Given the description of an element on the screen output the (x, y) to click on. 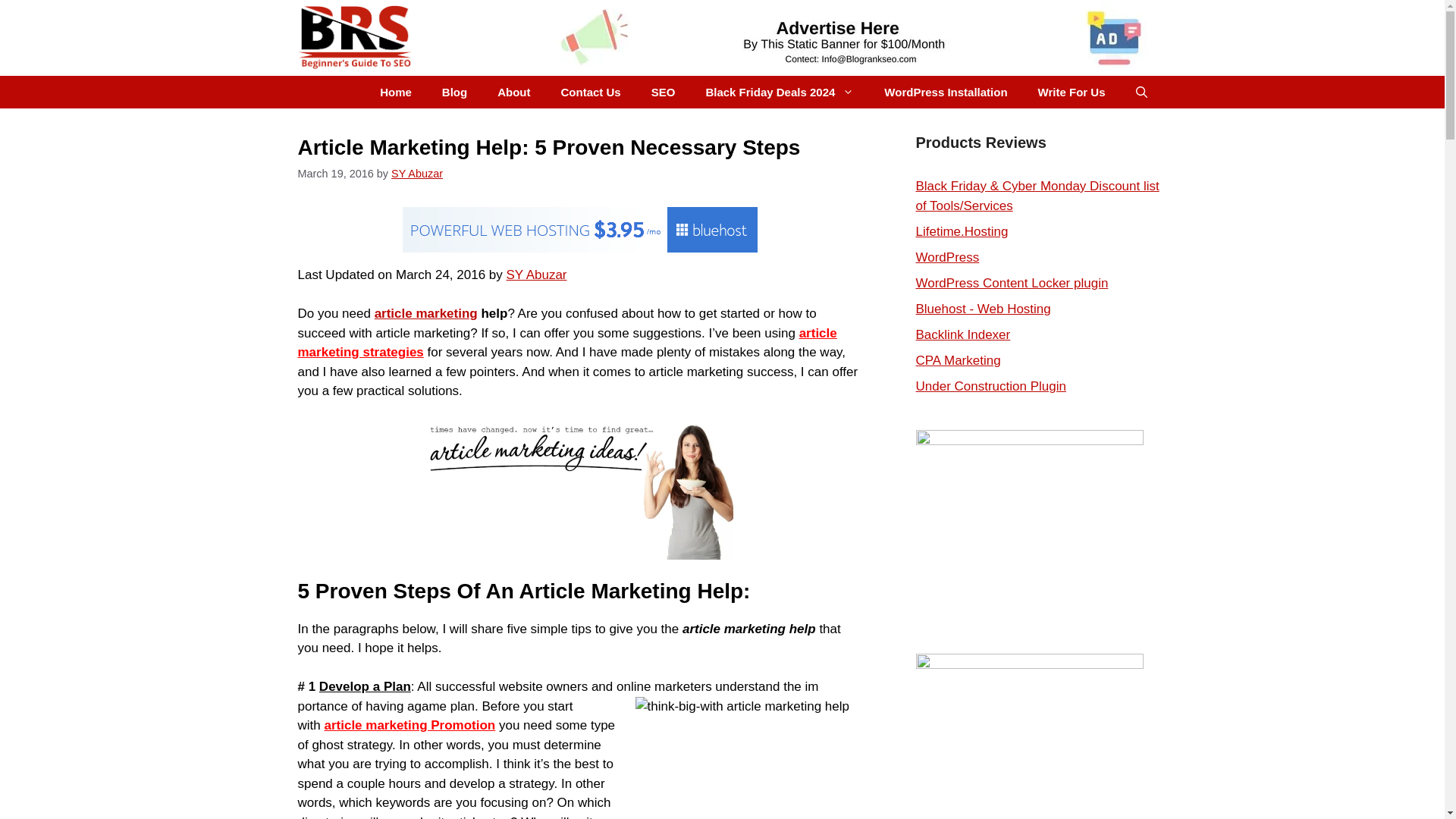
SY Abuzar (416, 173)
SY Abuzar (536, 274)
Blog (453, 92)
Self Hosted WordPress.org vs. Free WordPress.com 2022 (947, 257)
5 (1127, 227)
Black Friday Deals 2024 (779, 92)
5 (1127, 253)
Contact Us (591, 92)
article marketing strategies (566, 342)
article marketing (425, 313)
article marketing Promotion (409, 725)
WordPress Installation (945, 92)
SEO (663, 92)
About (512, 92)
Home (395, 92)
